Given the description of an element on the screen output the (x, y) to click on. 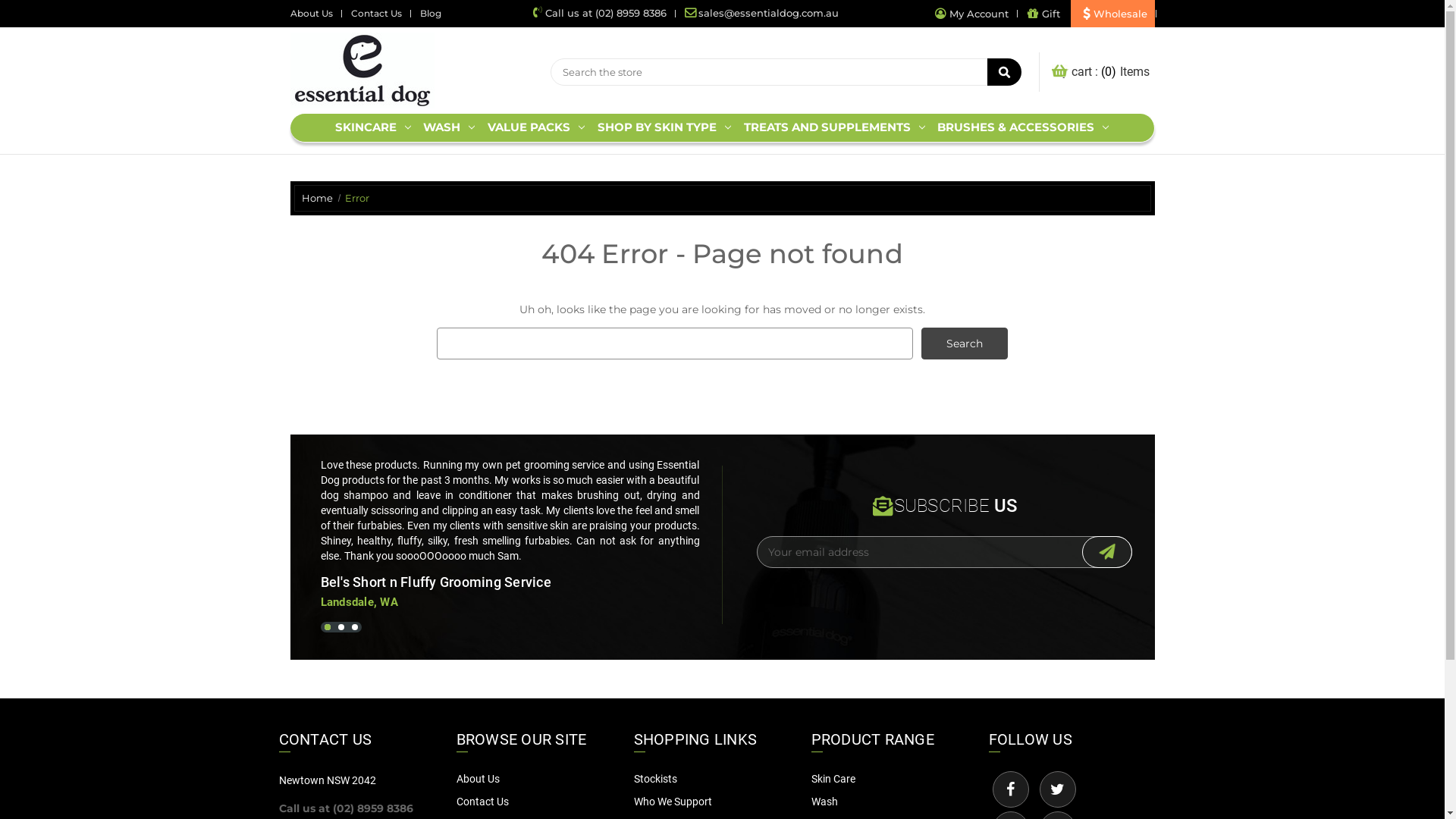
Wash Element type: text (824, 801)
Wholesale Element type: text (1112, 13)
WASH Element type: text (449, 127)
About Us Element type: text (310, 13)
Stockists Element type: text (655, 778)
About Us Element type: text (477, 778)
TREATS AND SUPPLEMENTS Element type: text (834, 127)
Call us at (02) 8959 8386 Element type: text (598, 12)
Skin Care Element type: text (833, 778)
SHOP BY SKIN TYPE Element type: text (664, 127)
My Account Element type: text (971, 13)
Who We Support Element type: text (672, 801)
Essential Dog Element type: hover (361, 70)
VALUE PACKS Element type: text (536, 127)
Blog Element type: text (430, 13)
Subscribe Element type: text (1107, 551)
My cart : 0 Element type: text (1085, 72)
BRUSHES & ACCESSORIES Element type: text (1023, 127)
Search Element type: text (964, 343)
Contact Us Element type: text (482, 801)
SKINCARE Element type: text (372, 127)
Gift Element type: text (1043, 13)
Error Element type: text (356, 197)
Contact Us Element type: text (375, 13)
Home Element type: text (316, 197)
sales@essentialdog.com.au Element type: text (761, 12)
